Given the description of an element on the screen output the (x, y) to click on. 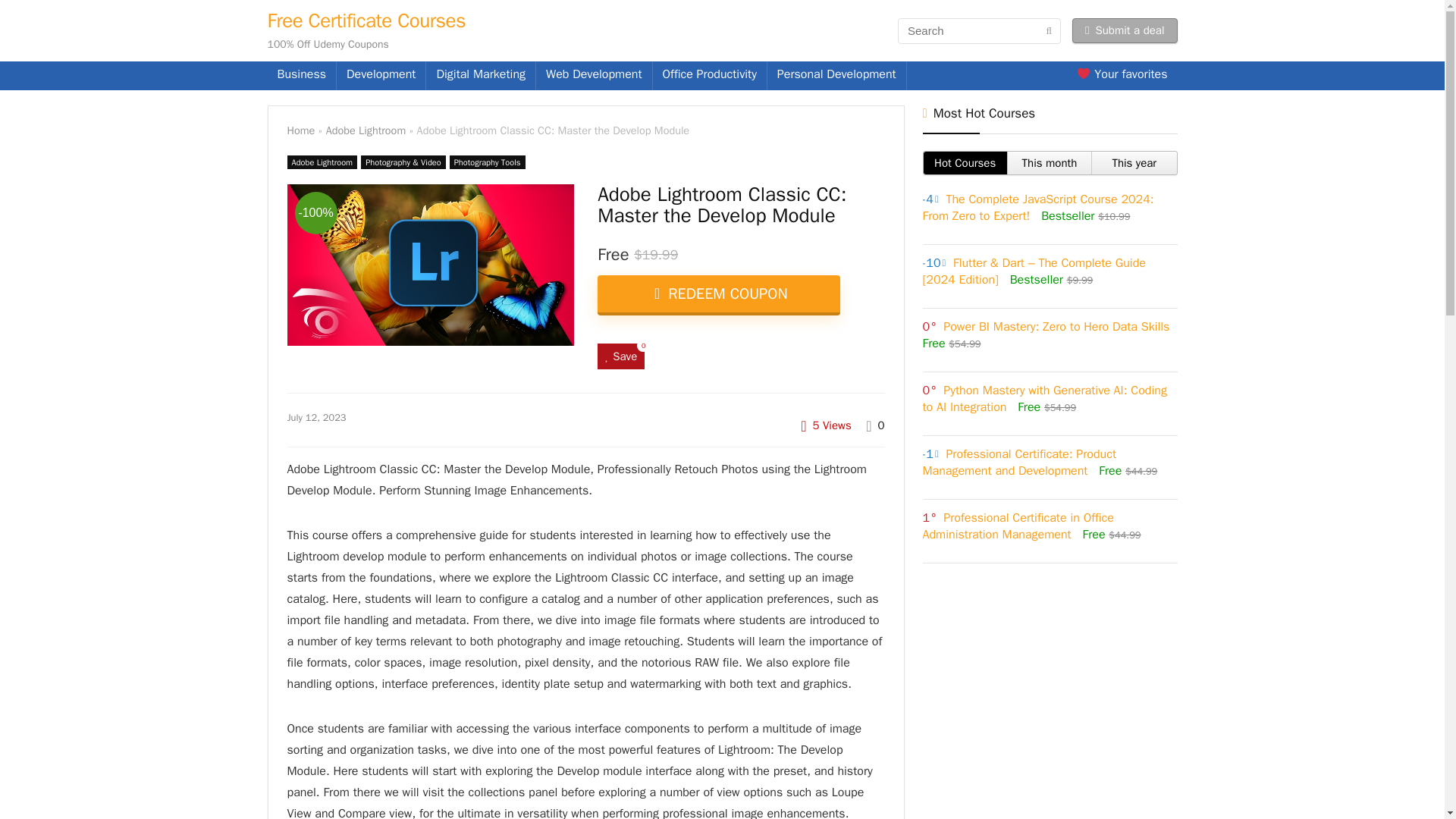
Photography Tools (487, 161)
Adobe Lightroom (321, 161)
Python Mastery with Generative AI: Coding to AI Integration (1043, 398)
Submit a deal (1124, 30)
Office Productivity (709, 75)
Your favorites (1121, 75)
Power BI Mastery: Zero to Hero Data Skills (1056, 326)
Personal Development (836, 75)
The Complete JavaScript Course 2024: From Zero to Expert! (1037, 207)
View all posts in Photography Tools (487, 161)
Adobe Lightroom (366, 130)
Home (300, 130)
Web Development (593, 75)
Development (380, 75)
Digital Marketing (480, 75)
